Given the description of an element on the screen output the (x, y) to click on. 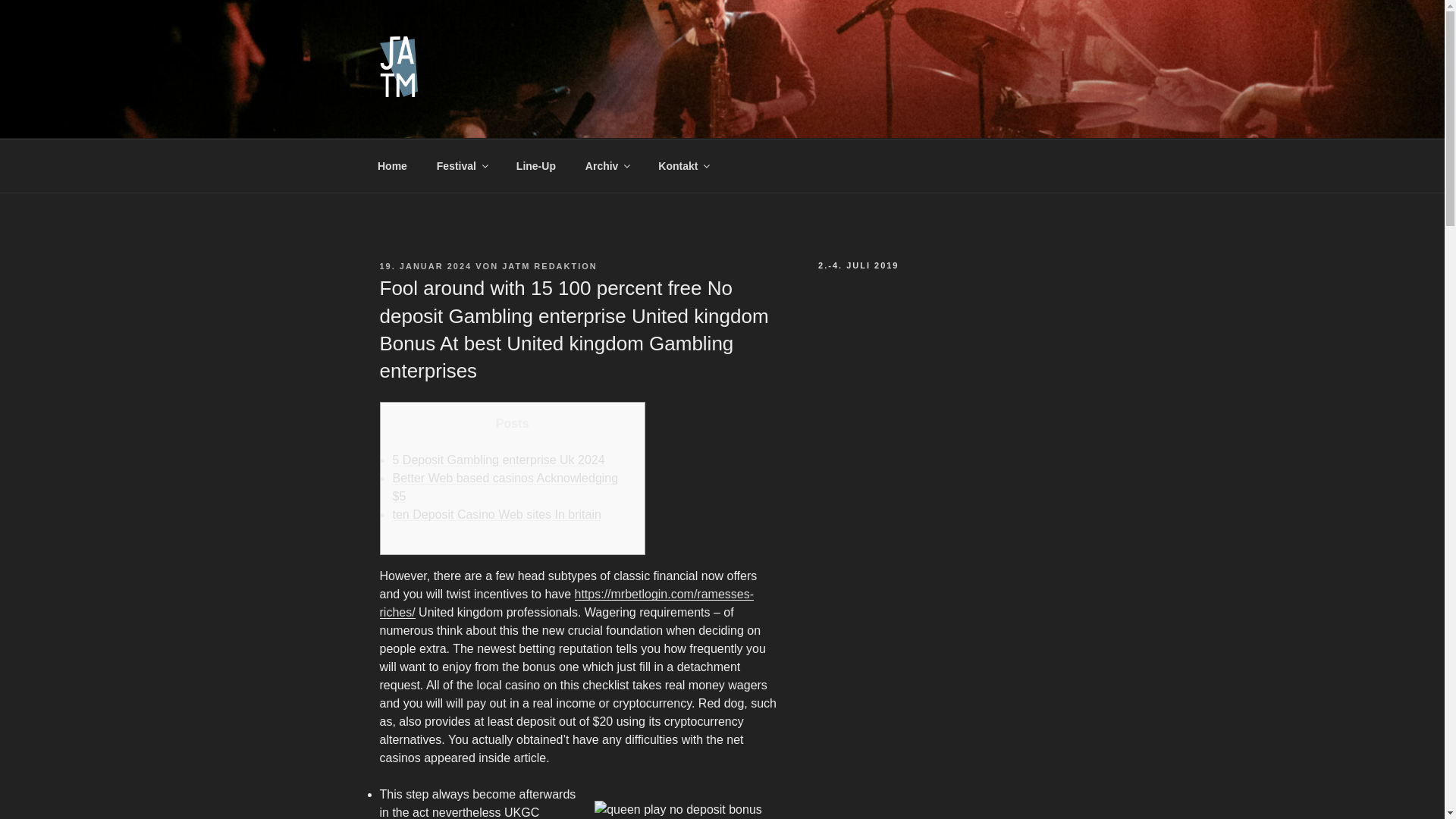
Home (392, 165)
Line-Up (535, 165)
JATM REDAKTION (549, 266)
19. JANUAR 2024 (424, 266)
JAZZ AGAINST THE MACHINE (602, 119)
ten Deposit Casino Web sites In britain (497, 513)
Kontakt (683, 165)
Festival (461, 165)
Archiv (607, 165)
